Given the description of an element on the screen output the (x, y) to click on. 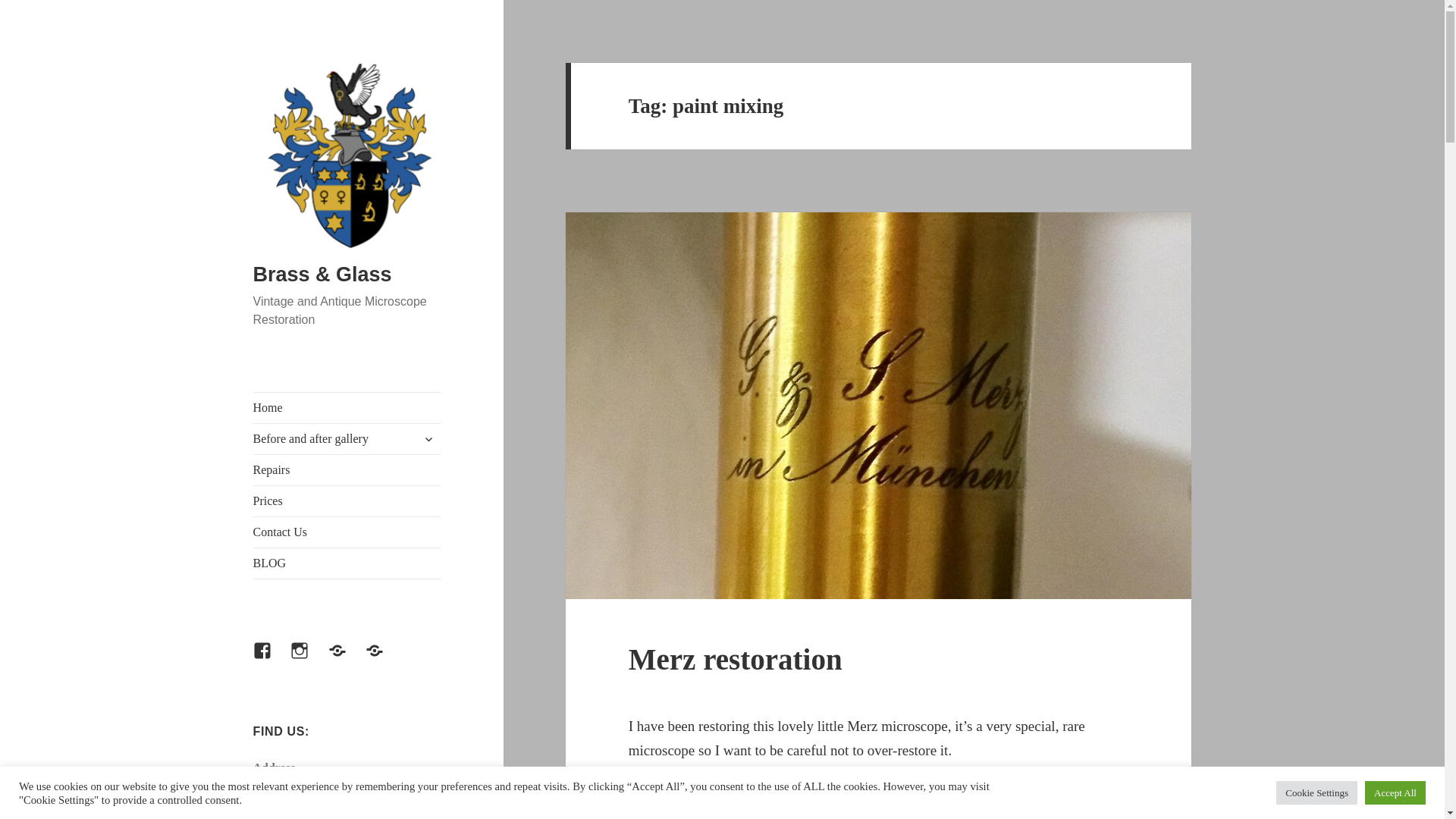
Repairs (347, 470)
expand child menu (428, 438)
Prices (347, 659)
Facebook (271, 659)
BLOG (347, 562)
Before and after gallery (347, 439)
Contact Us (347, 531)
Merz restoration (735, 658)
Repairs (383, 659)
instagram (307, 659)
Prices (347, 501)
Home (347, 408)
